Given the description of an element on the screen output the (x, y) to click on. 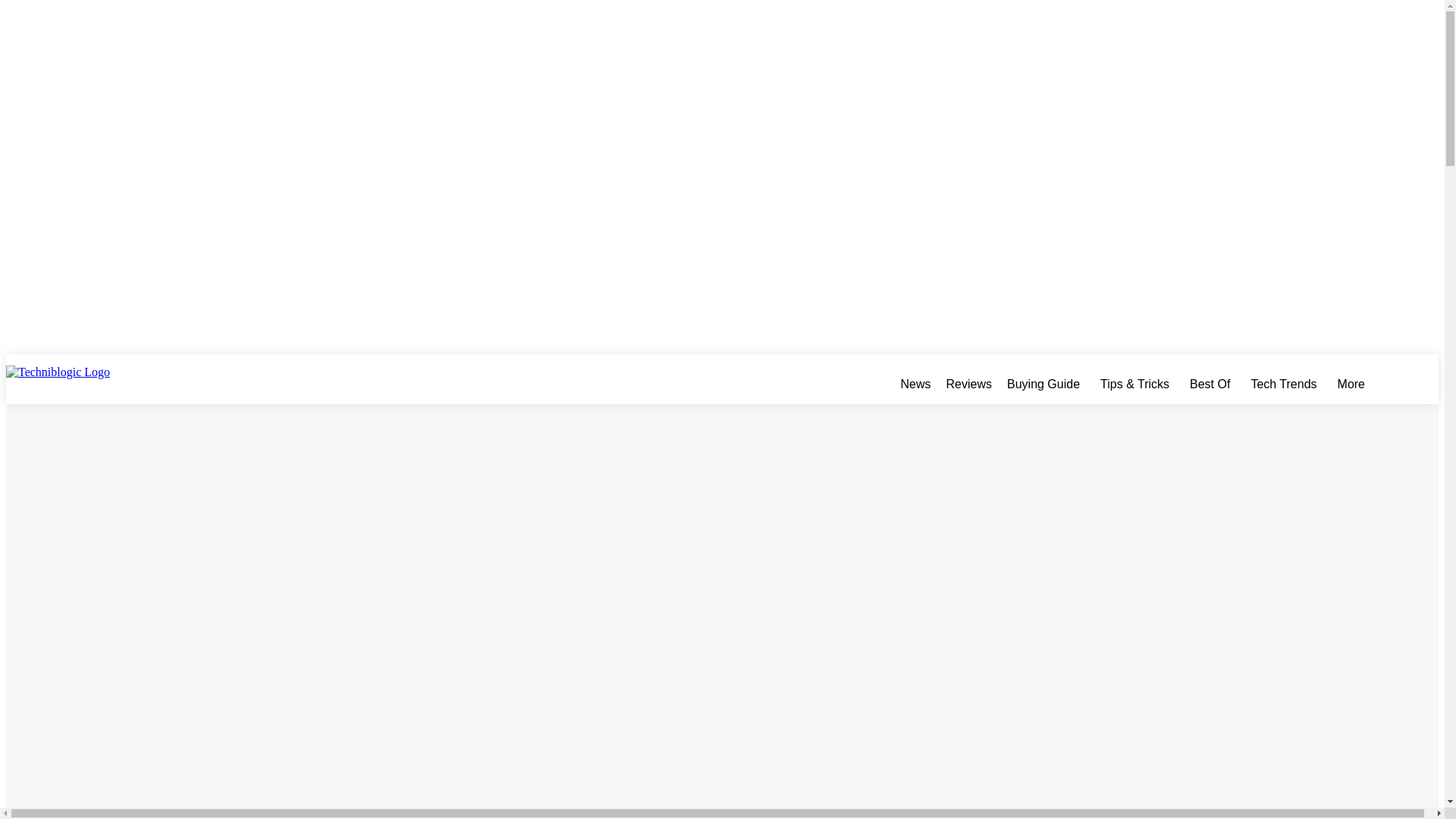
Buying Guide (1045, 384)
Best Of (1212, 384)
Techniblogic Logo (89, 384)
View all posts in Trending (55, 434)
News (916, 383)
Reviews (968, 383)
Tech Trends Gadgets (1286, 384)
Best Of (1212, 384)
